Given the description of an element on the screen output the (x, y) to click on. 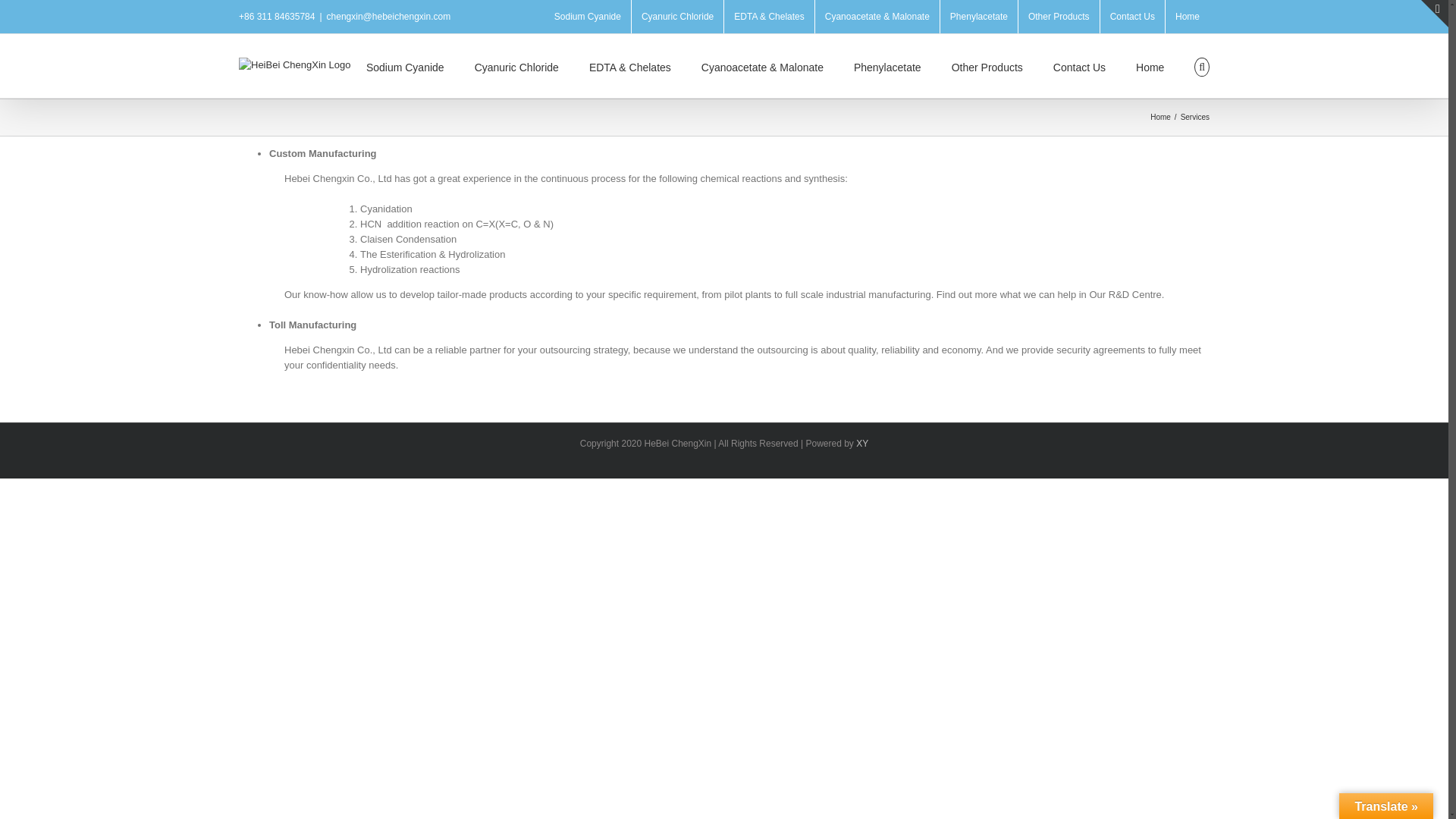
Other Products (1058, 16)
Sodium Cyanide (587, 16)
Phenylacetate (978, 16)
Cyanuric Chloride (677, 16)
